Given the description of an element on the screen output the (x, y) to click on. 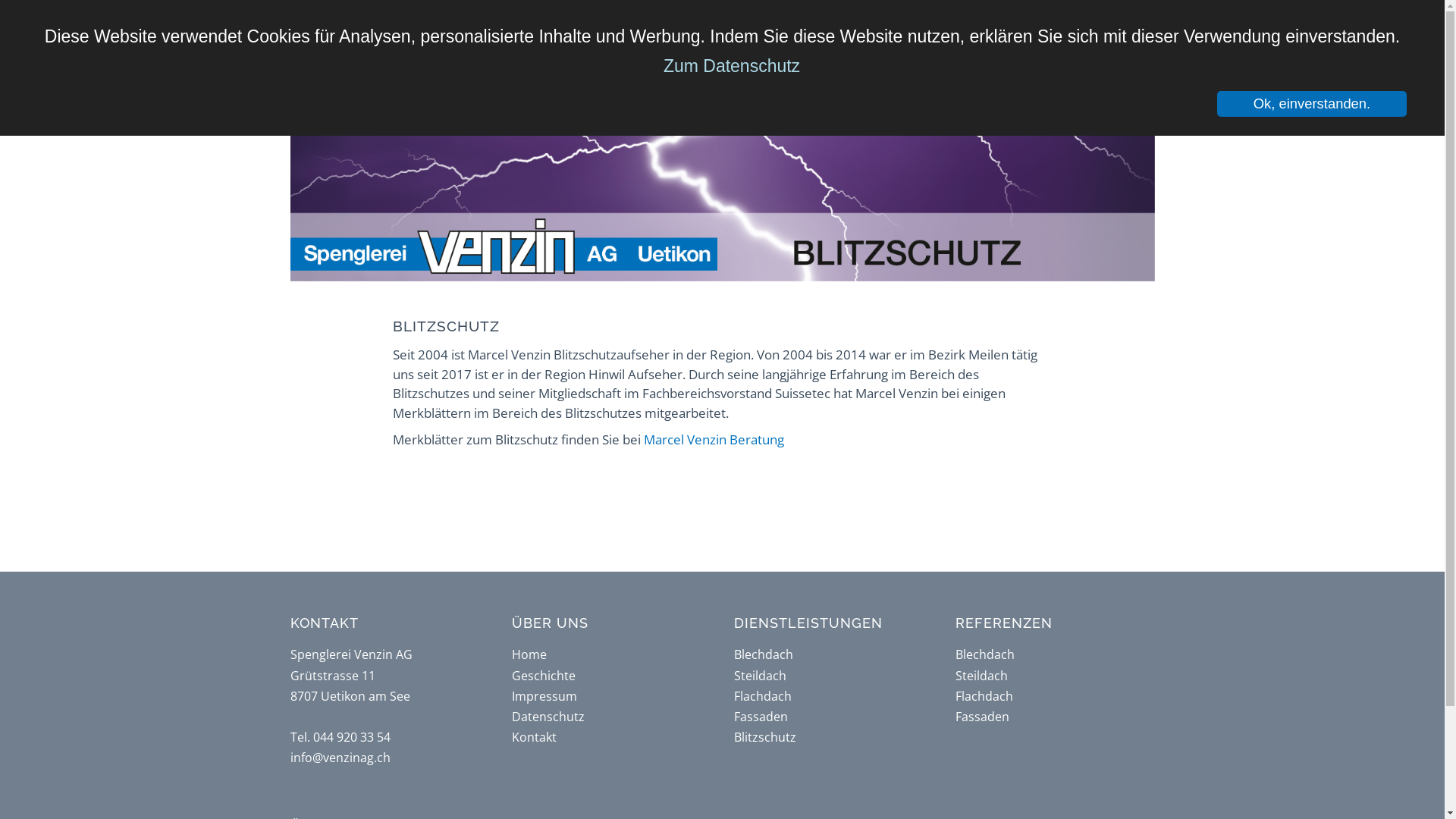
KONTAKT Element type: text (1022, 28)
Blitzschutz Element type: text (765, 736)
Fassaden Element type: text (982, 716)
Steildach Element type: text (760, 675)
Zum Datenschutz Element type: text (731, 65)
DIENSTLEISTUNGEN Element type: text (771, 28)
Datenschutz Element type: text (547, 716)
Blechdach Element type: text (763, 654)
Blechdach Element type: text (984, 654)
REFERENZEN Element type: text (914, 28)
Marcel Venzin Beratung Element type: text (713, 439)
info@venzinag.ch Element type: text (339, 757)
Steildach Element type: text (981, 675)
Geschichte Element type: text (543, 675)
Flachdach Element type: text (762, 695)
Ok, einverstanden. Element type: text (1311, 103)
044 920 33 54 Element type: text (350, 736)
Flachdach Element type: text (984, 695)
Fassaden Element type: text (760, 716)
Kontakt Element type: text (533, 736)
HOME Element type: text (547, 28)
Home Element type: text (528, 654)
Impressum Element type: text (544, 695)
